Given the description of an element on the screen output the (x, y) to click on. 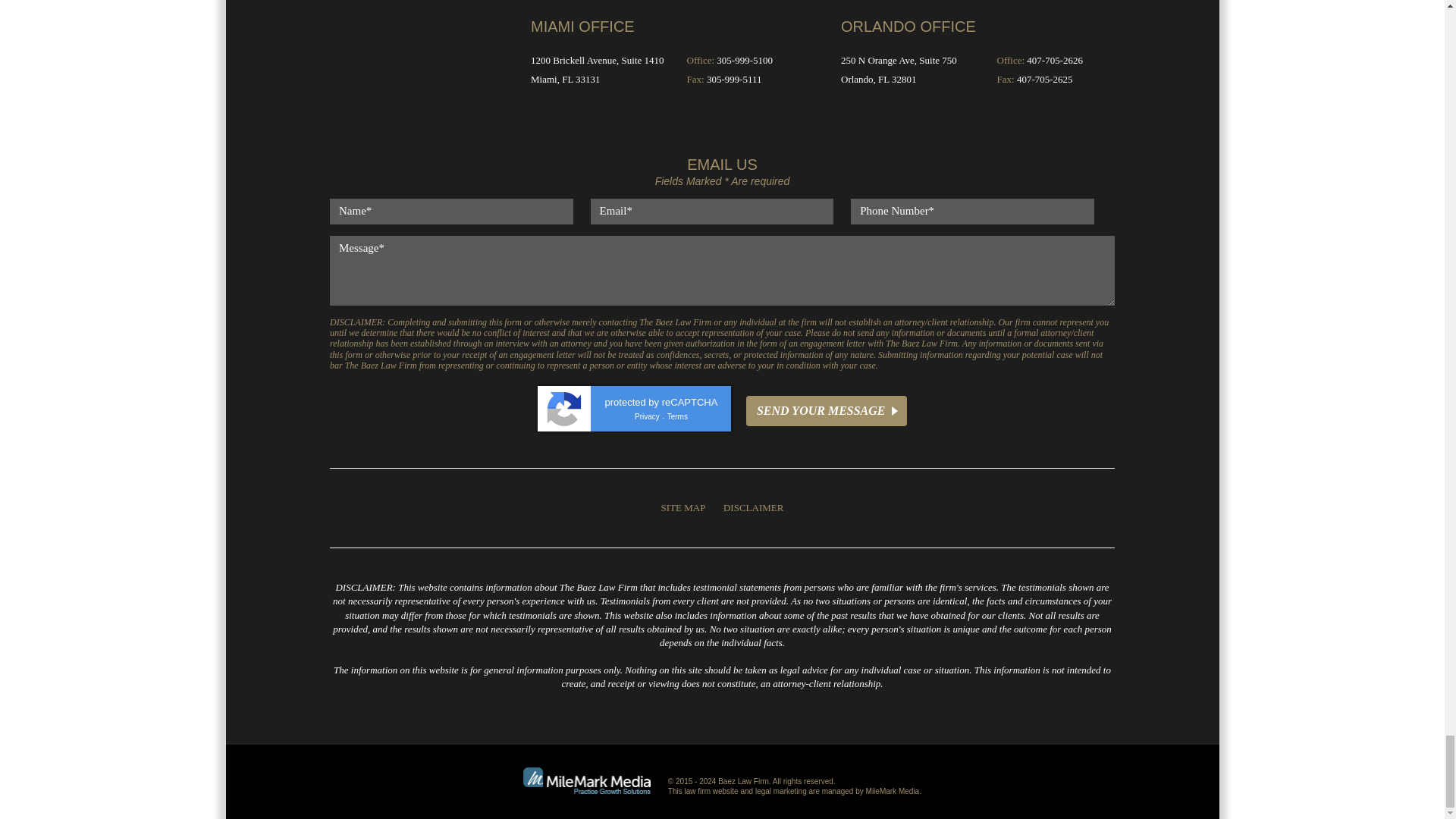
Send Your Message (826, 410)
